Given the description of an element on the screen output the (x, y) to click on. 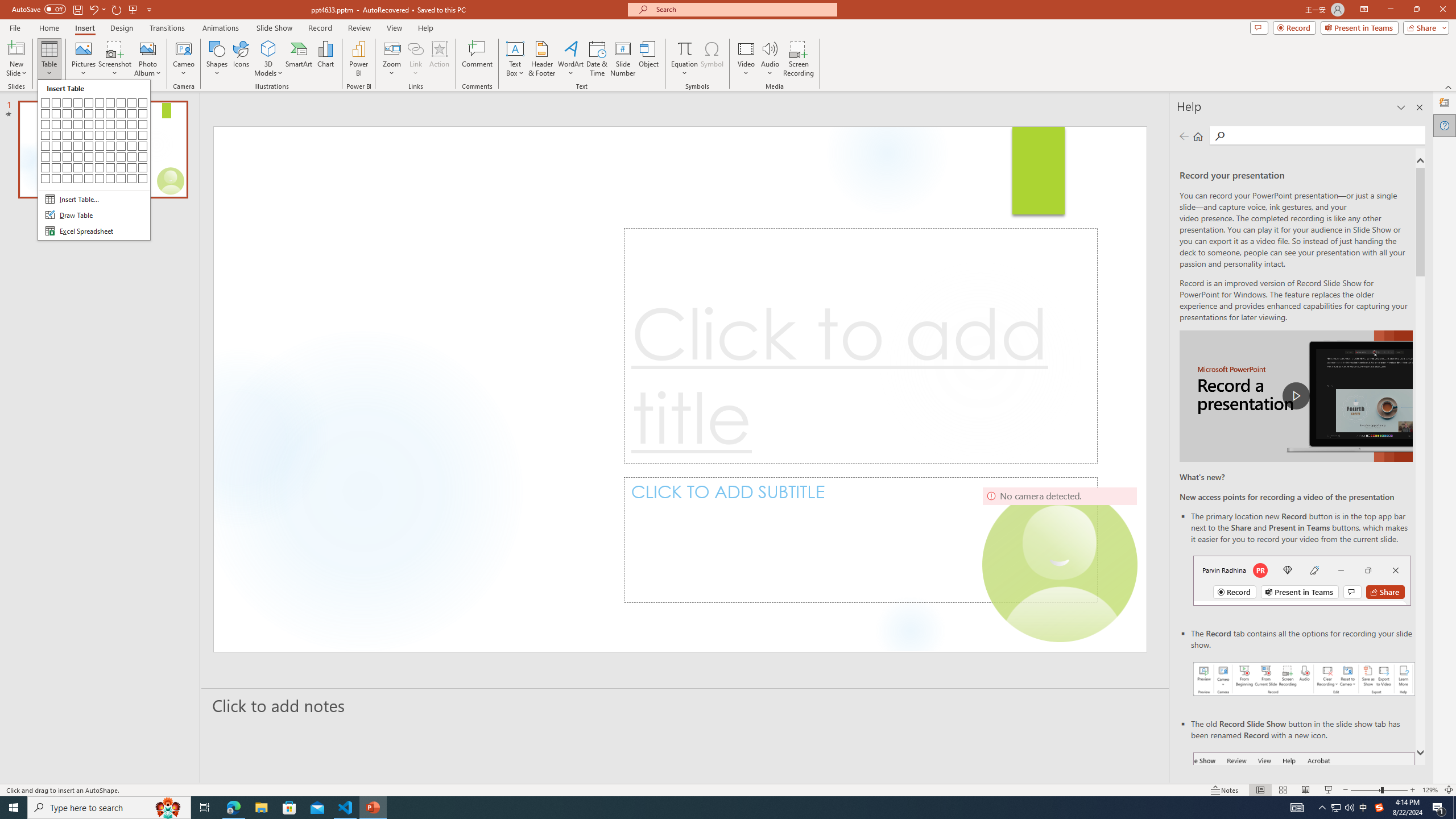
play Record a Presentation (1296, 395)
Zoom 129% (1430, 790)
Photo Album... (147, 58)
